Given the description of an element on the screen output the (x, y) to click on. 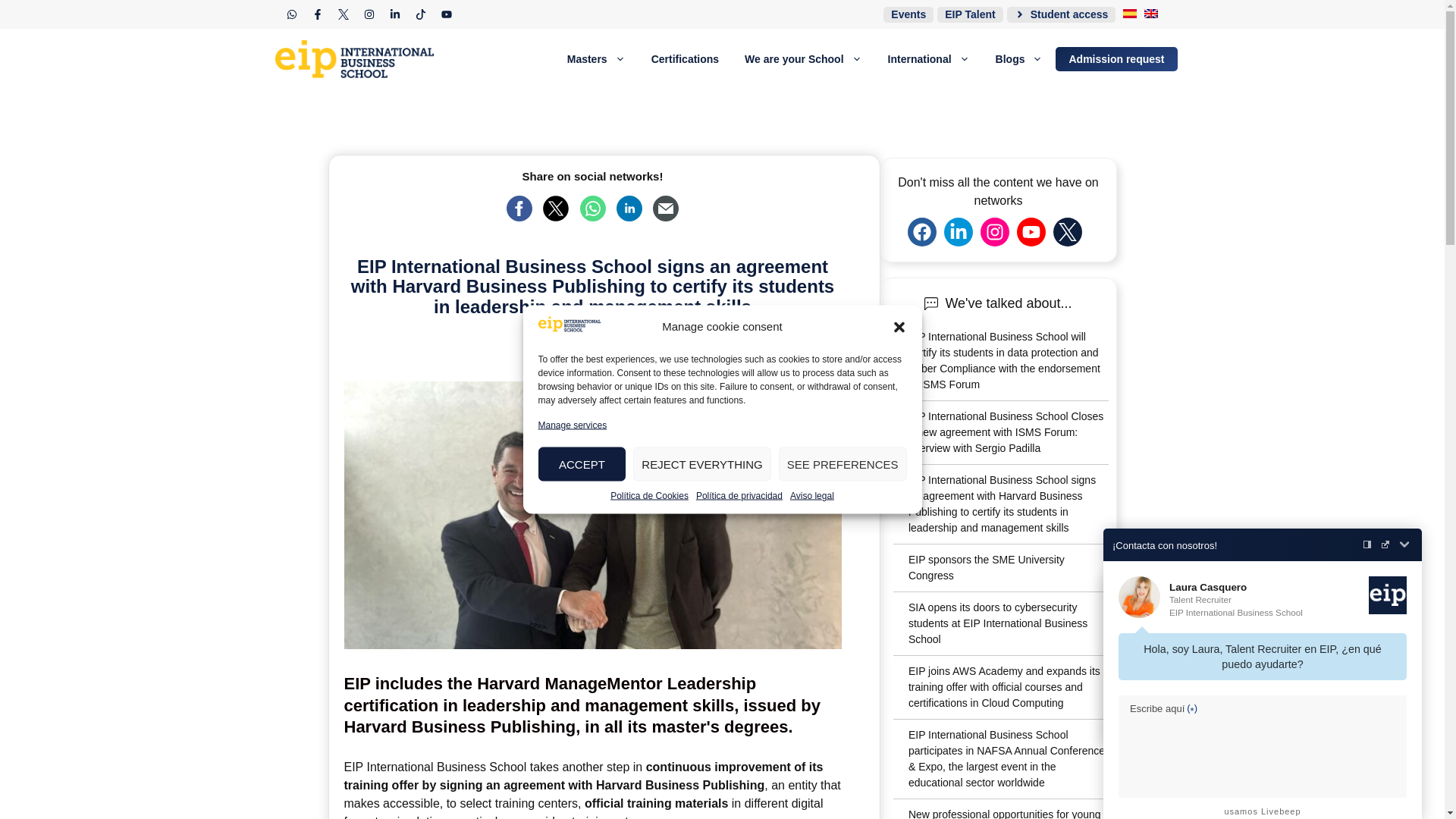
EIP Talent (970, 13)
ACCEPT (582, 464)
English (1150, 13)
REJECT EVERYTHING (701, 464)
Abrir en nueva ventana (1384, 544)
SEE PREFERENCES (842, 464)
Student access (1061, 13)
Manage services (572, 425)
Aviso legal (812, 495)
Ajustar a la pantalla (1366, 544)
Online Masters No. 1 Employability (359, 58)
Events (908, 13)
Spanish (1129, 13)
View all posts by EIP (642, 337)
